Given the description of an element on the screen output the (x, y) to click on. 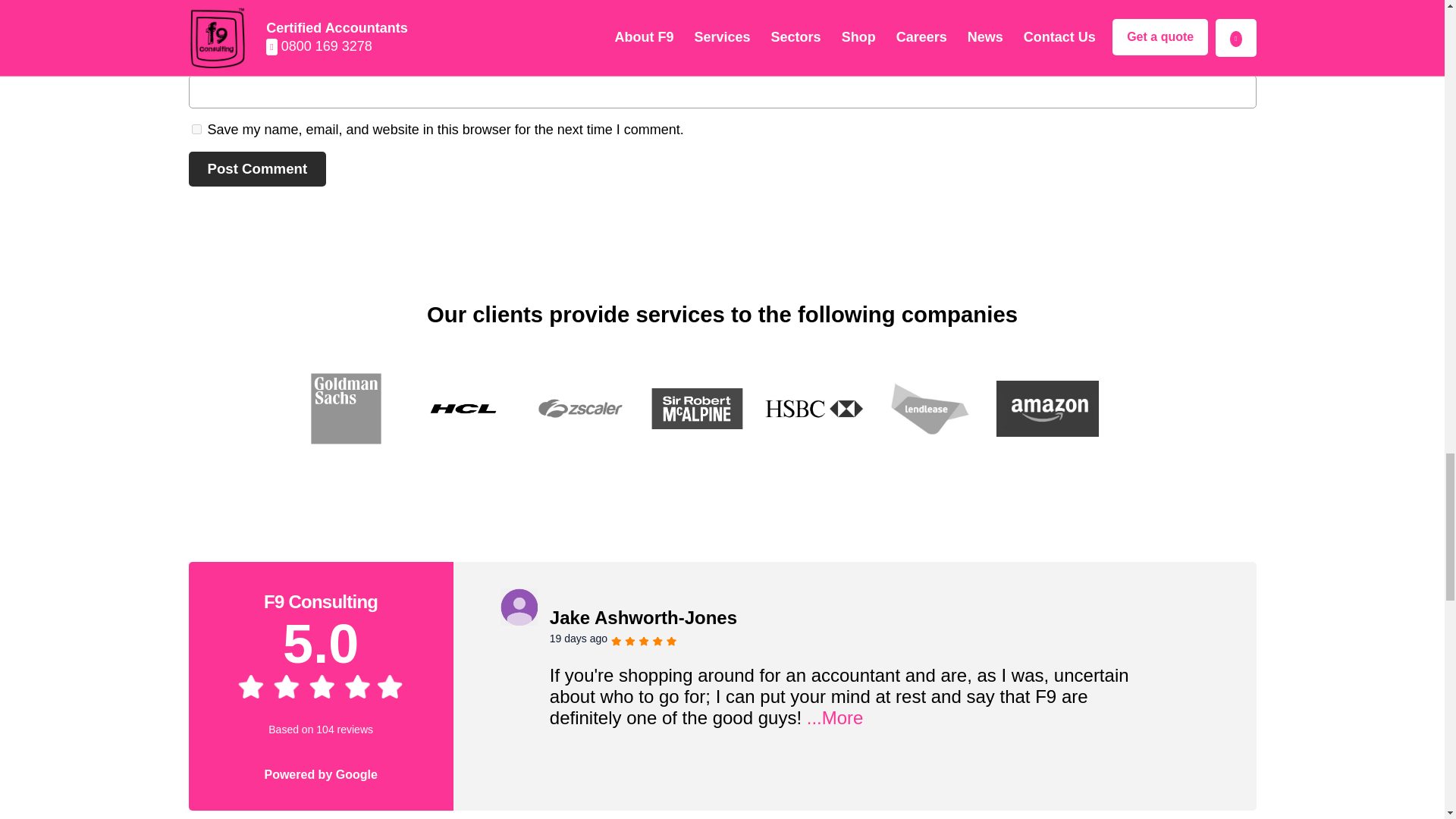
Post Comment (256, 168)
yes (195, 129)
